Given the description of an element on the screen output the (x, y) to click on. 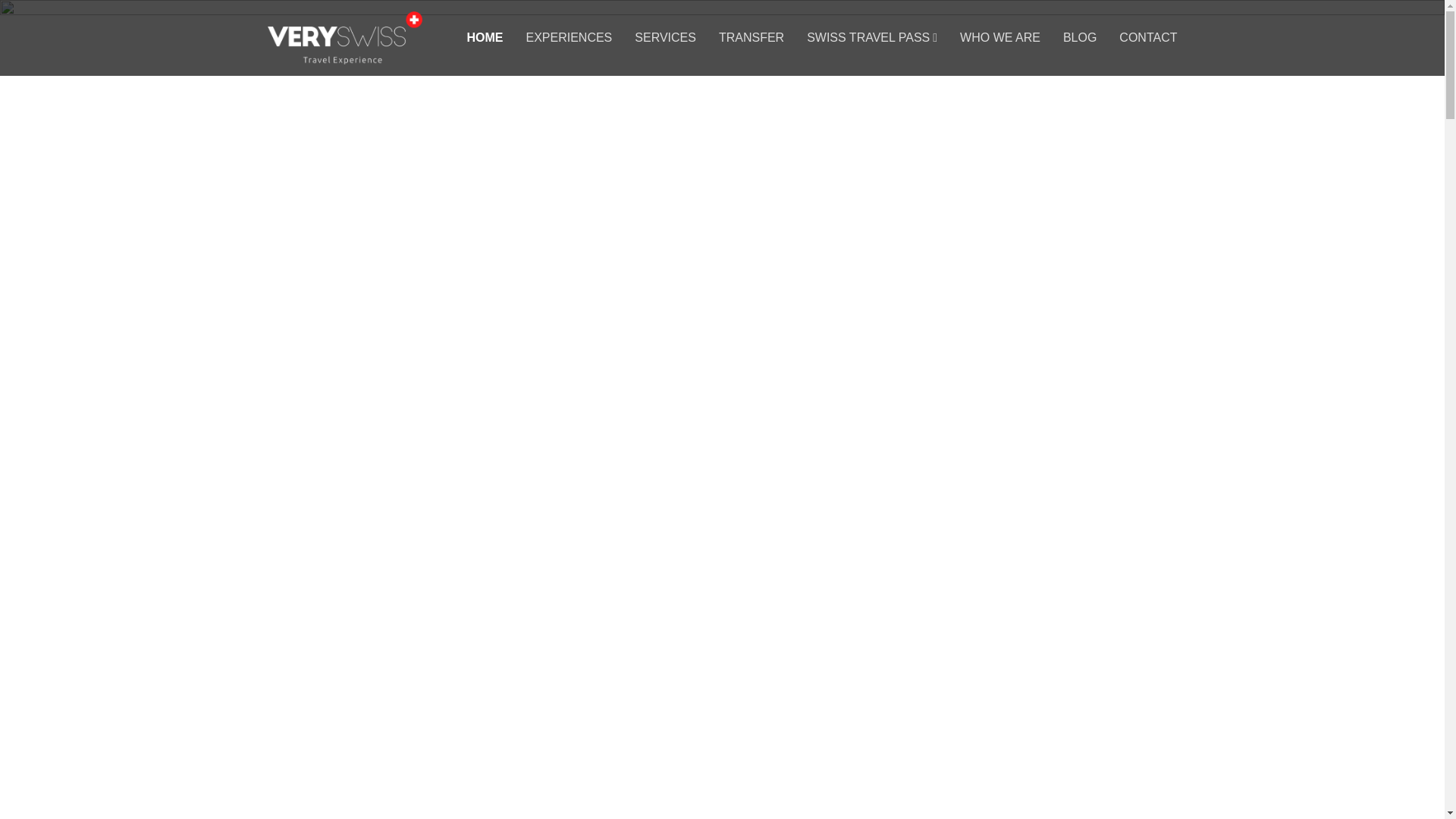
EXPERIENCES (568, 37)
SERVICES (664, 37)
HOME (483, 37)
TRANSFER (751, 37)
SWISS TRAVEL PASS (871, 38)
BLOG (1079, 37)
CONTACT (1147, 37)
WHO WE ARE (1000, 37)
